Given the description of an element on the screen output the (x, y) to click on. 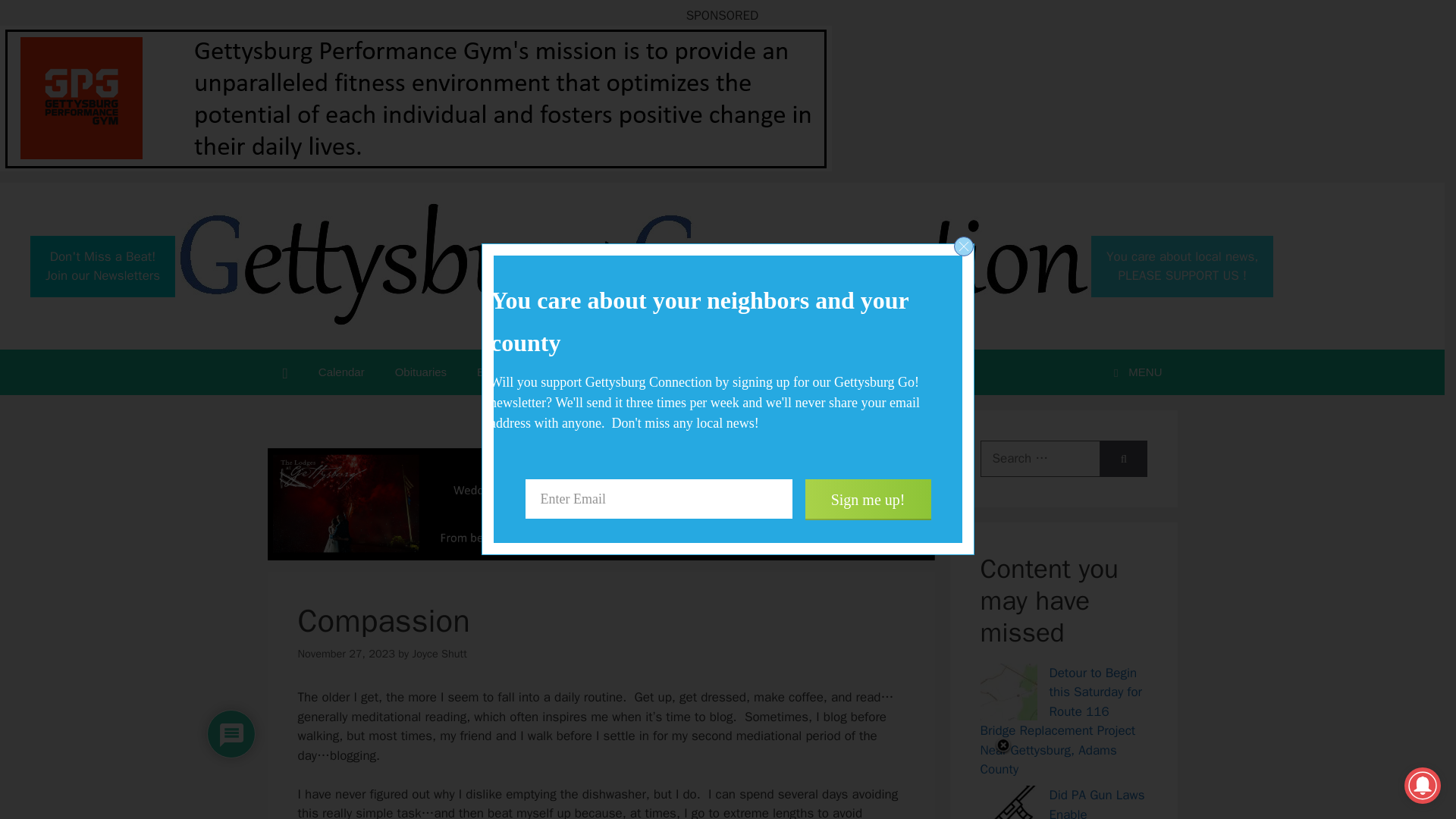
Calendar (341, 371)
Community (637, 371)
About (728, 371)
MENU (1134, 371)
Joyce Shutt (1181, 265)
Support Us (438, 653)
Obituaries (102, 265)
Breaking News (818, 371)
View all posts by Joyce Shutt (420, 371)
